Given the description of an element on the screen output the (x, y) to click on. 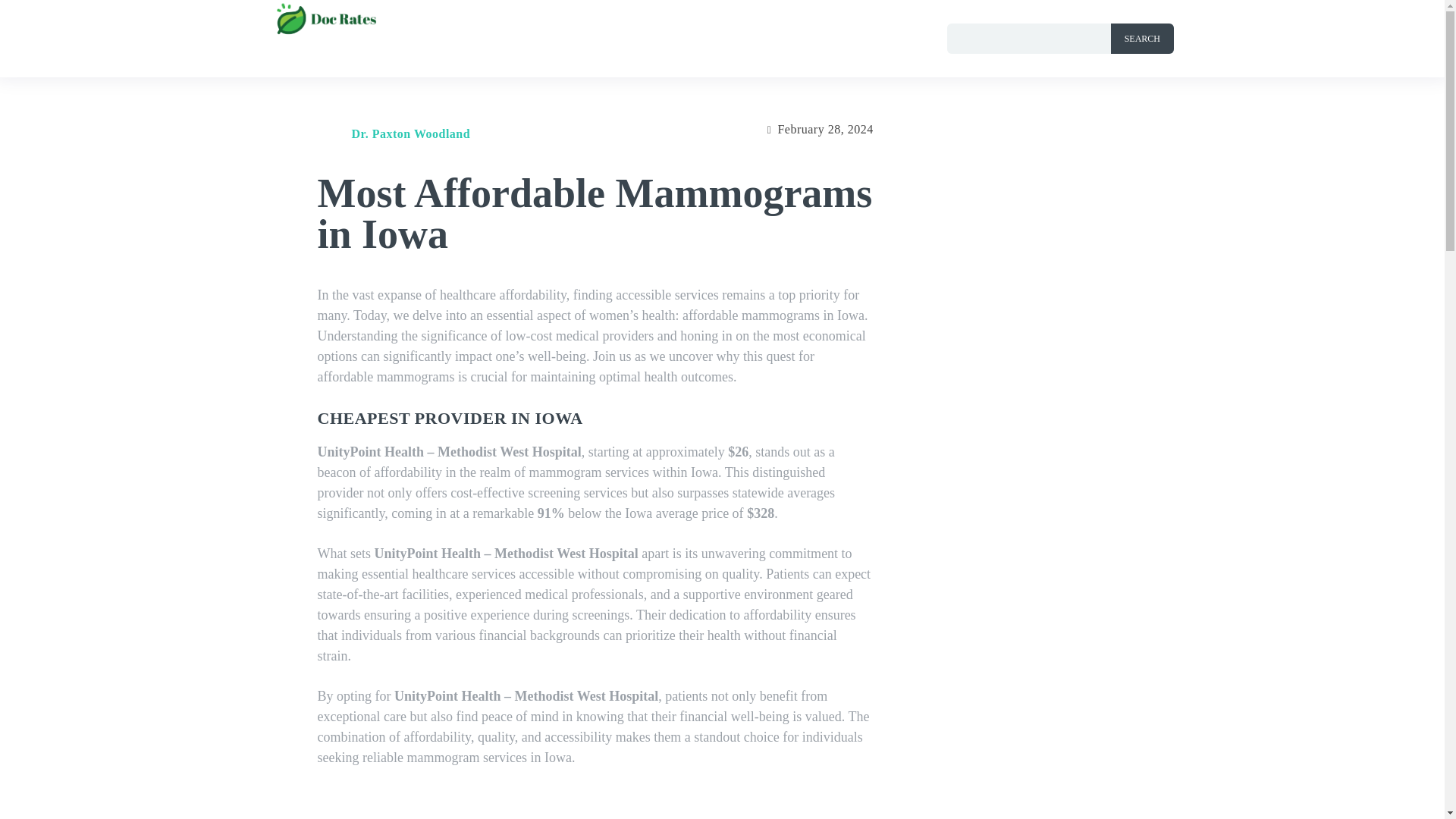
Dr. Paxton Woodland (332, 133)
SEARCH (1141, 38)
Dr. Paxton Woodland (411, 133)
